Given the description of an element on the screen output the (x, y) to click on. 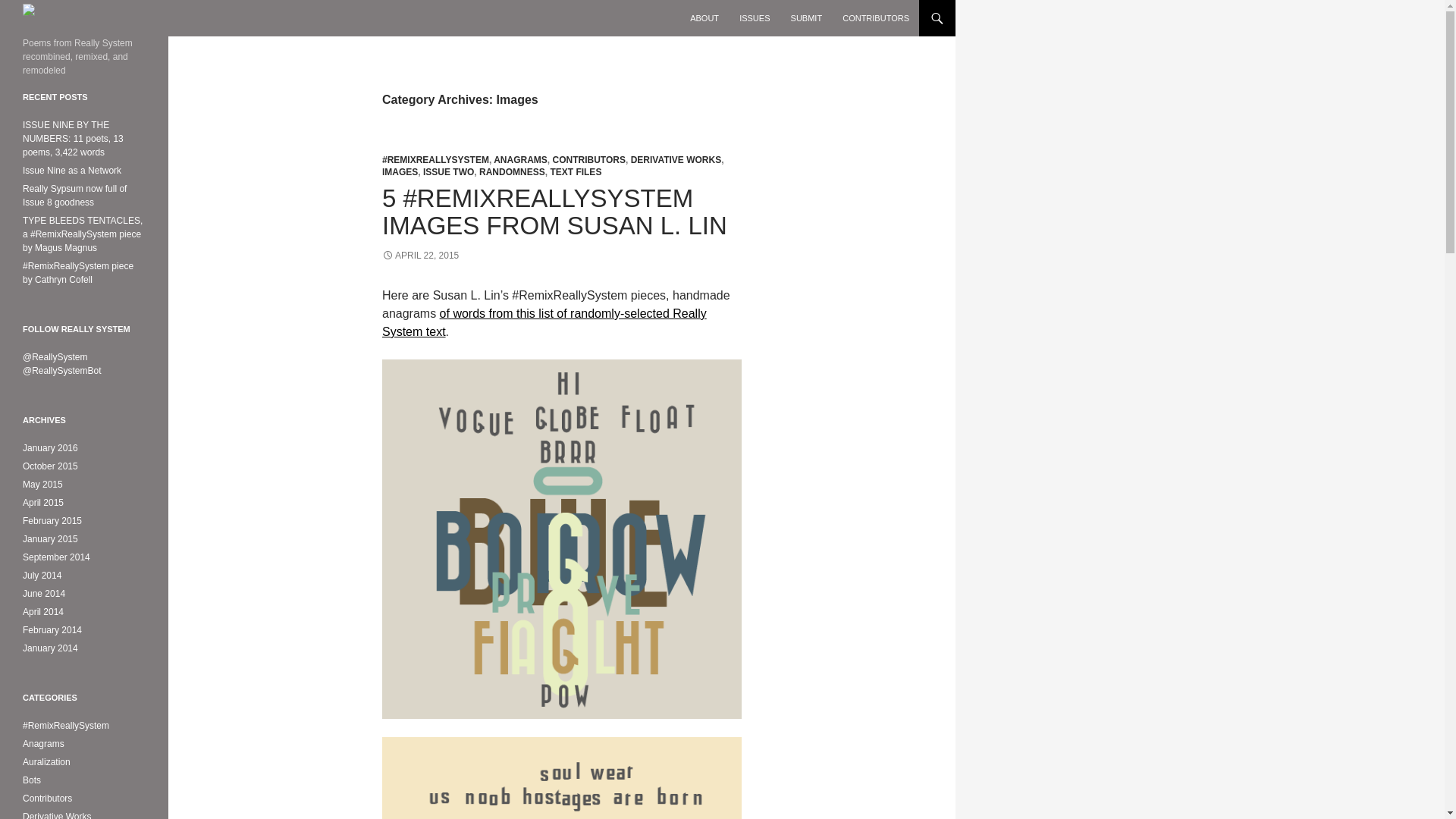
ANAGRAMS (520, 159)
RANDOMNESS (511, 172)
CONTRIBUTORS (875, 18)
APRIL 22, 2015 (419, 255)
IMAGES (399, 172)
TEXT FILES (575, 172)
ISSUES (754, 18)
DERIVATIVE WORKS (676, 159)
SUBMIT (806, 18)
ISSUE TWO (448, 172)
CONTRIBUTORS (587, 159)
ABOUT (704, 18)
